Given the description of an element on the screen output the (x, y) to click on. 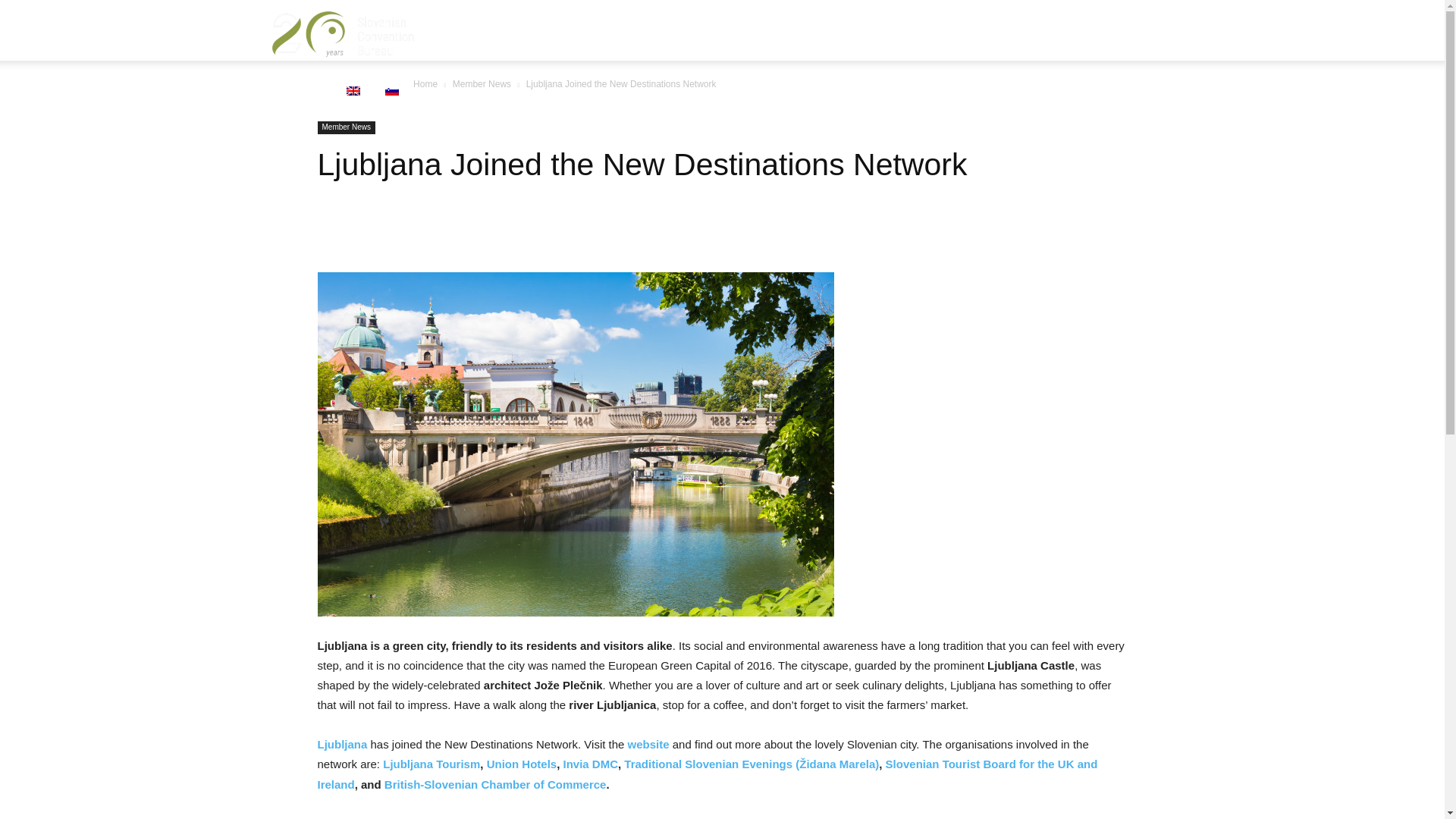
The Slovenian Convention Bureau (342, 30)
Search (1134, 102)
View all posts in Member News (481, 83)
BRAND (537, 30)
